Given the description of an element on the screen output the (x, y) to click on. 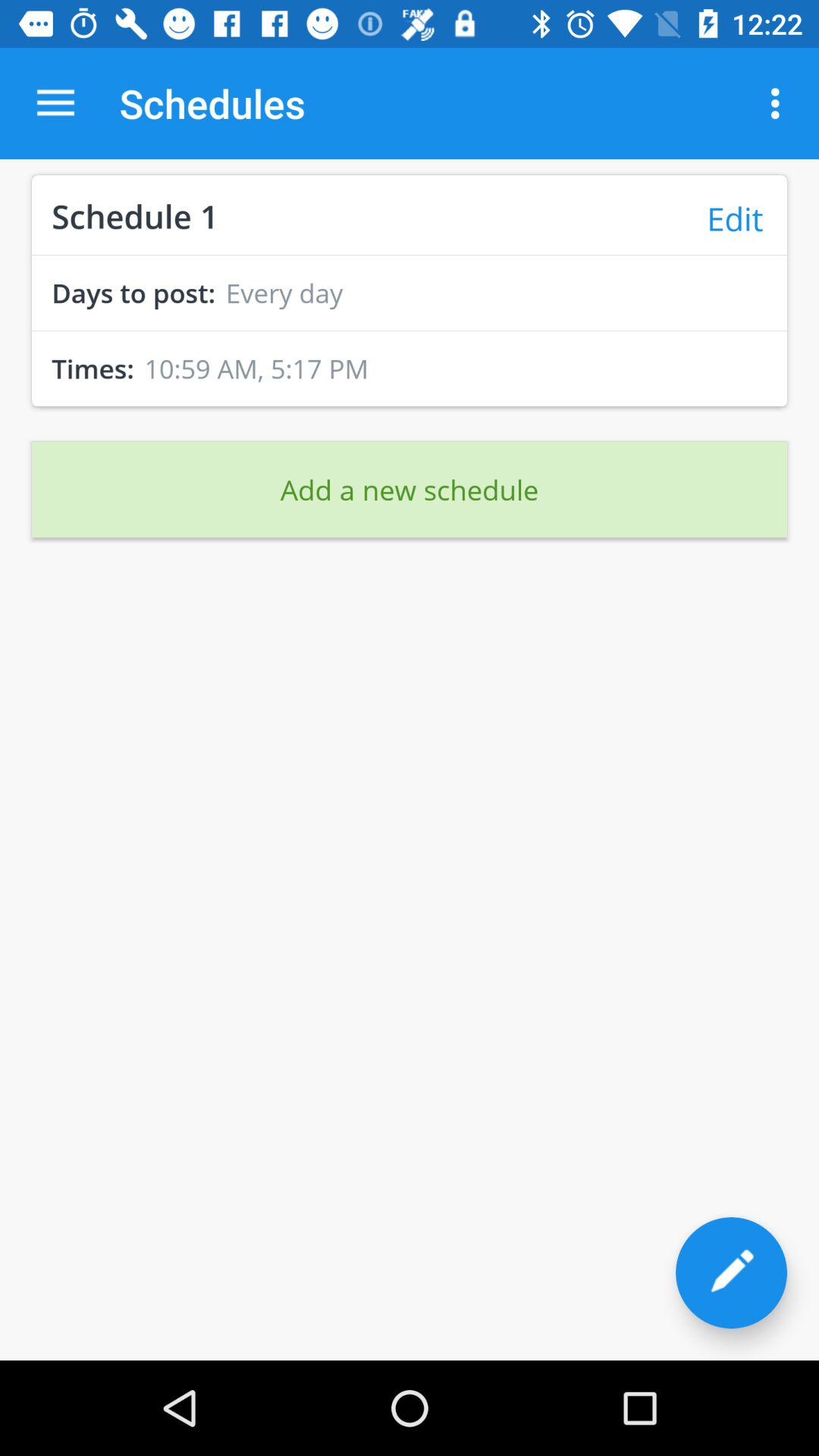
click the days to post: icon (128, 292)
